Given the description of an element on the screen output the (x, y) to click on. 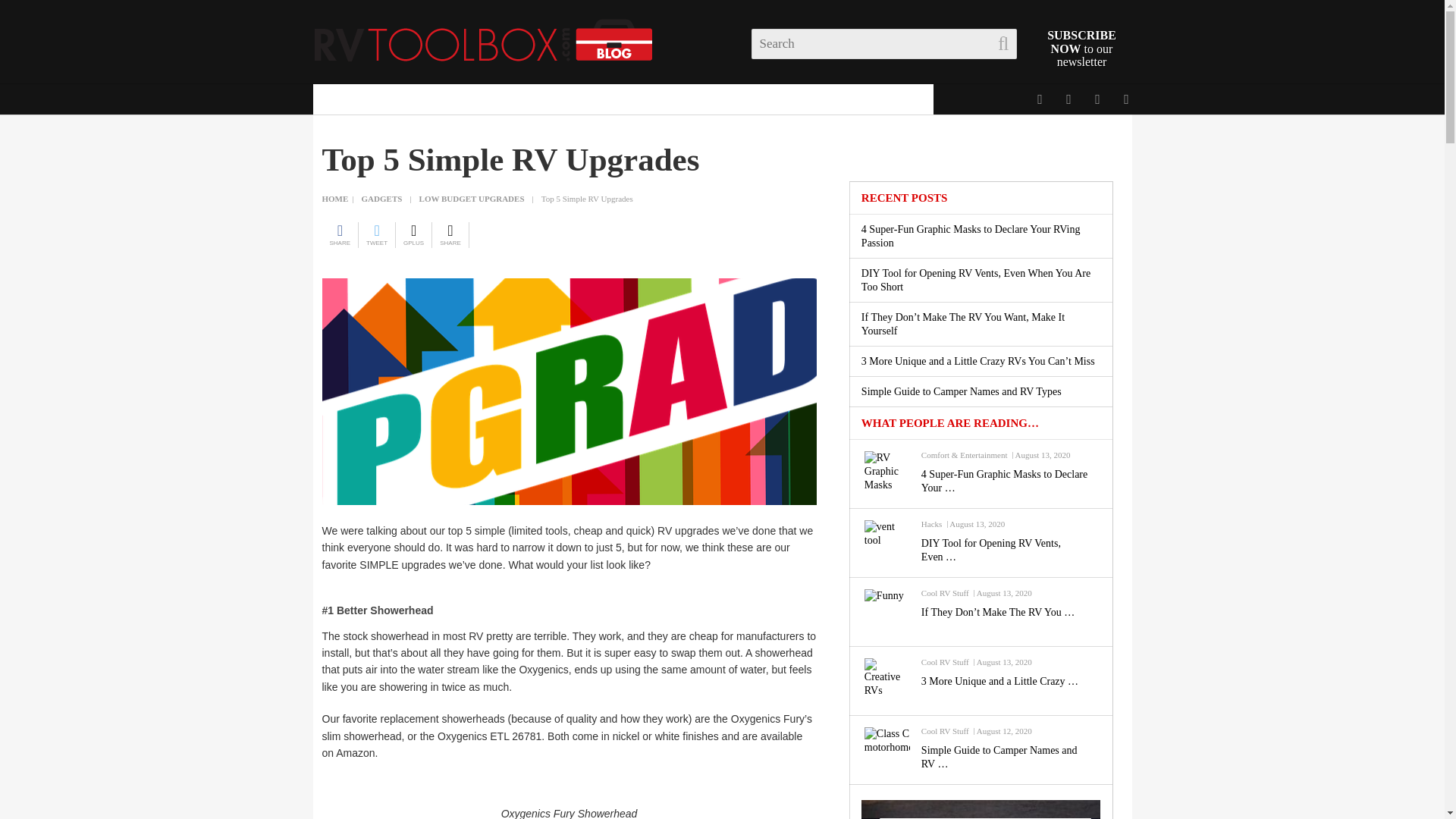
GADGETS (601, 99)
SUBSCRIBE NOW to our newsletter (1081, 47)
4 Super-Fun Graphic Masks to Declare Your RVing Passion (1009, 481)
RV GRAPHIC APPAREL (850, 99)
DISCOUNT CLUB (372, 99)
TIPS (674, 99)
VIDEOS (734, 99)
DIY Tool for Opening RV Vents, Even When You Are Too Short (1009, 550)
COOL RV STUFF (494, 99)
